Given the description of an element on the screen output the (x, y) to click on. 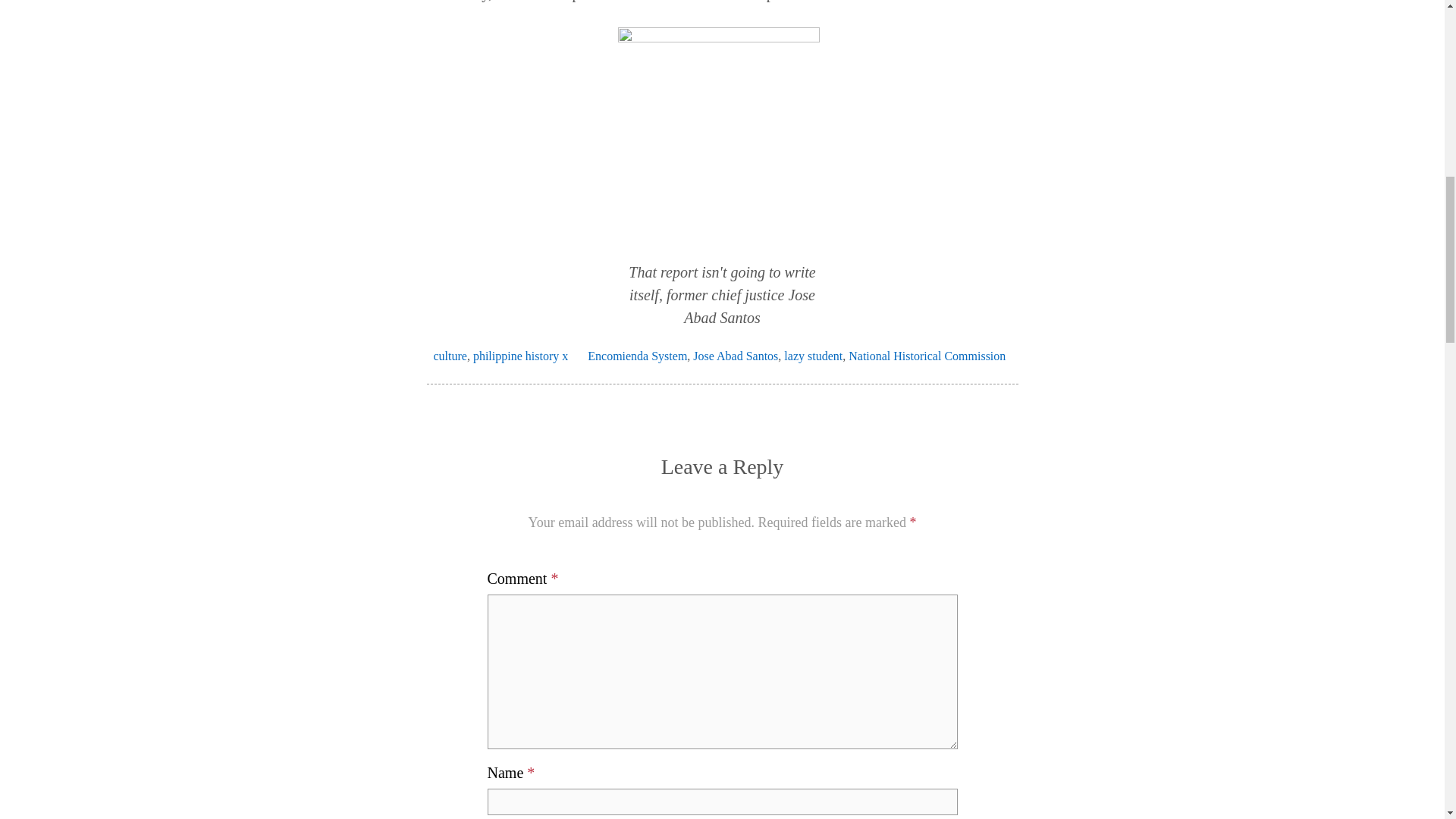
Jose Abad Santos (735, 355)
lazy student (813, 355)
Encomienda System (637, 355)
National Historical Commission (927, 355)
culture (450, 355)
philippine history x (520, 355)
